Given the description of an element on the screen output the (x, y) to click on. 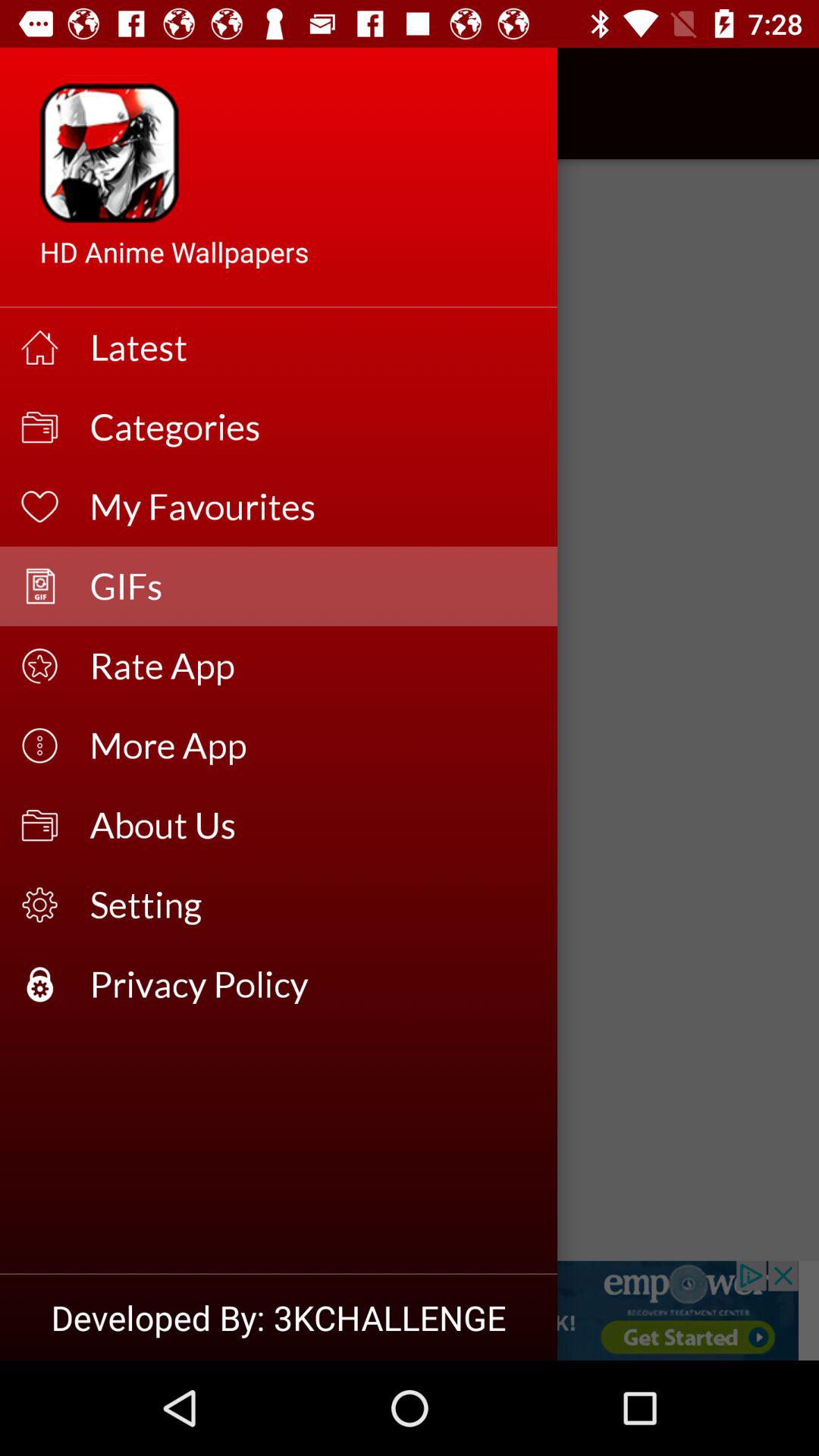
flip until privacy policy icon (313, 984)
